Given the description of an element on the screen output the (x, y) to click on. 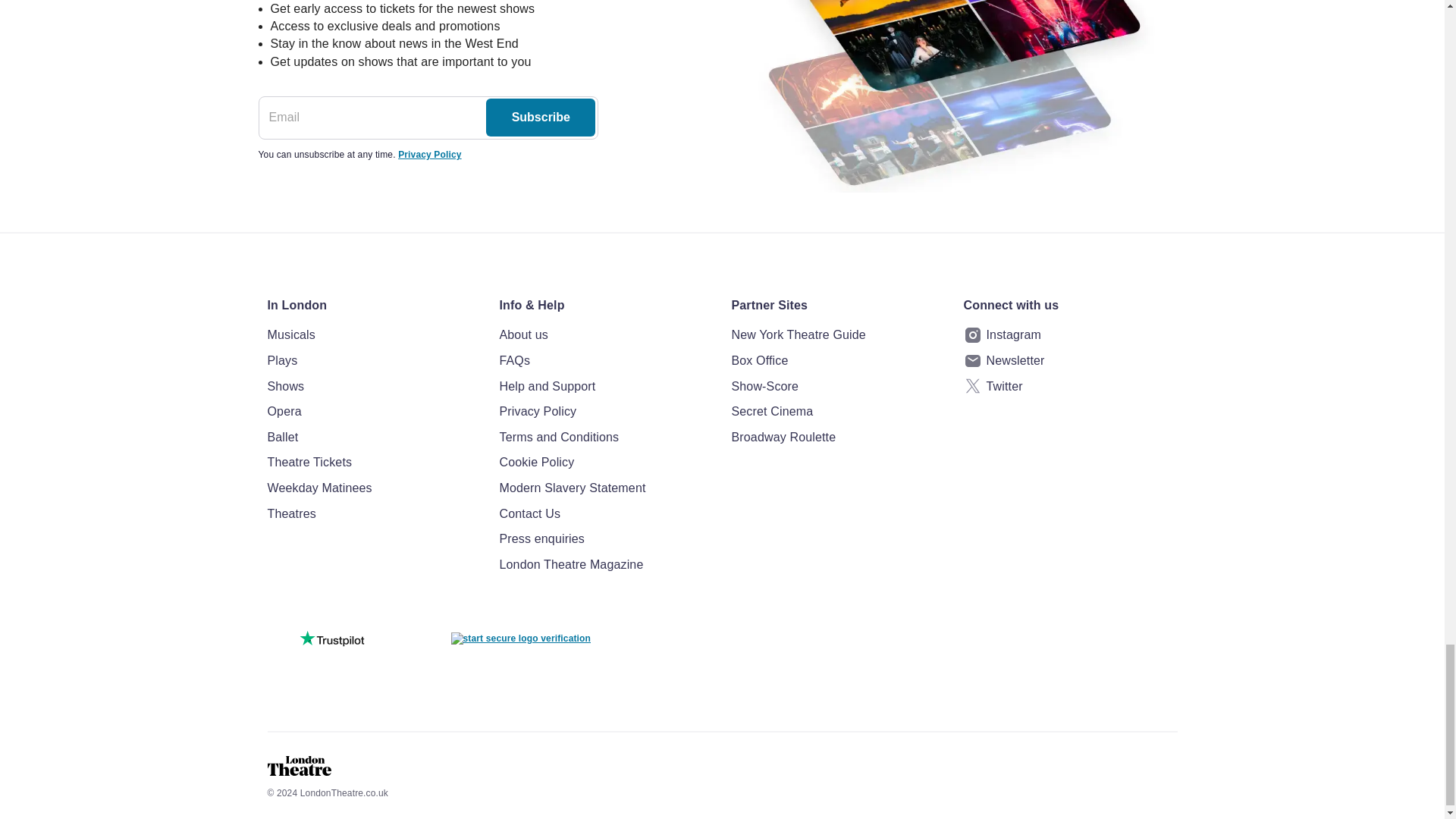
FAQs (606, 361)
Opera (373, 411)
Weekday Matinees (373, 487)
Theatres (373, 513)
Shows (373, 386)
Ballet (373, 437)
Plays (373, 361)
Theatre Tickets (373, 462)
Musicals (373, 334)
About us (606, 334)
